Given the description of an element on the screen output the (x, y) to click on. 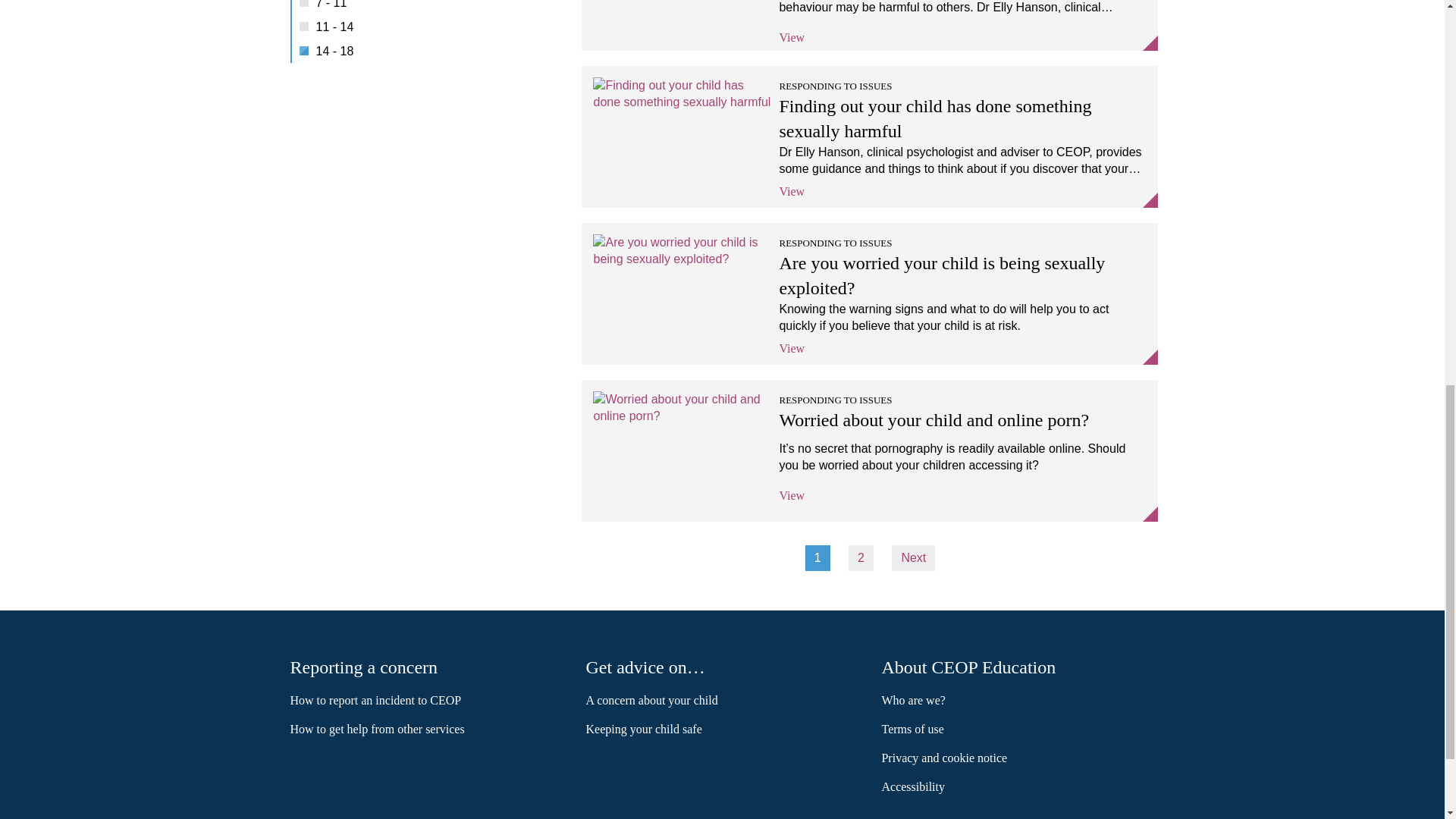
11 - 14 (426, 30)
7 - 11 (426, 7)
14 - 18 (426, 54)
